Given the description of an element on the screen output the (x, y) to click on. 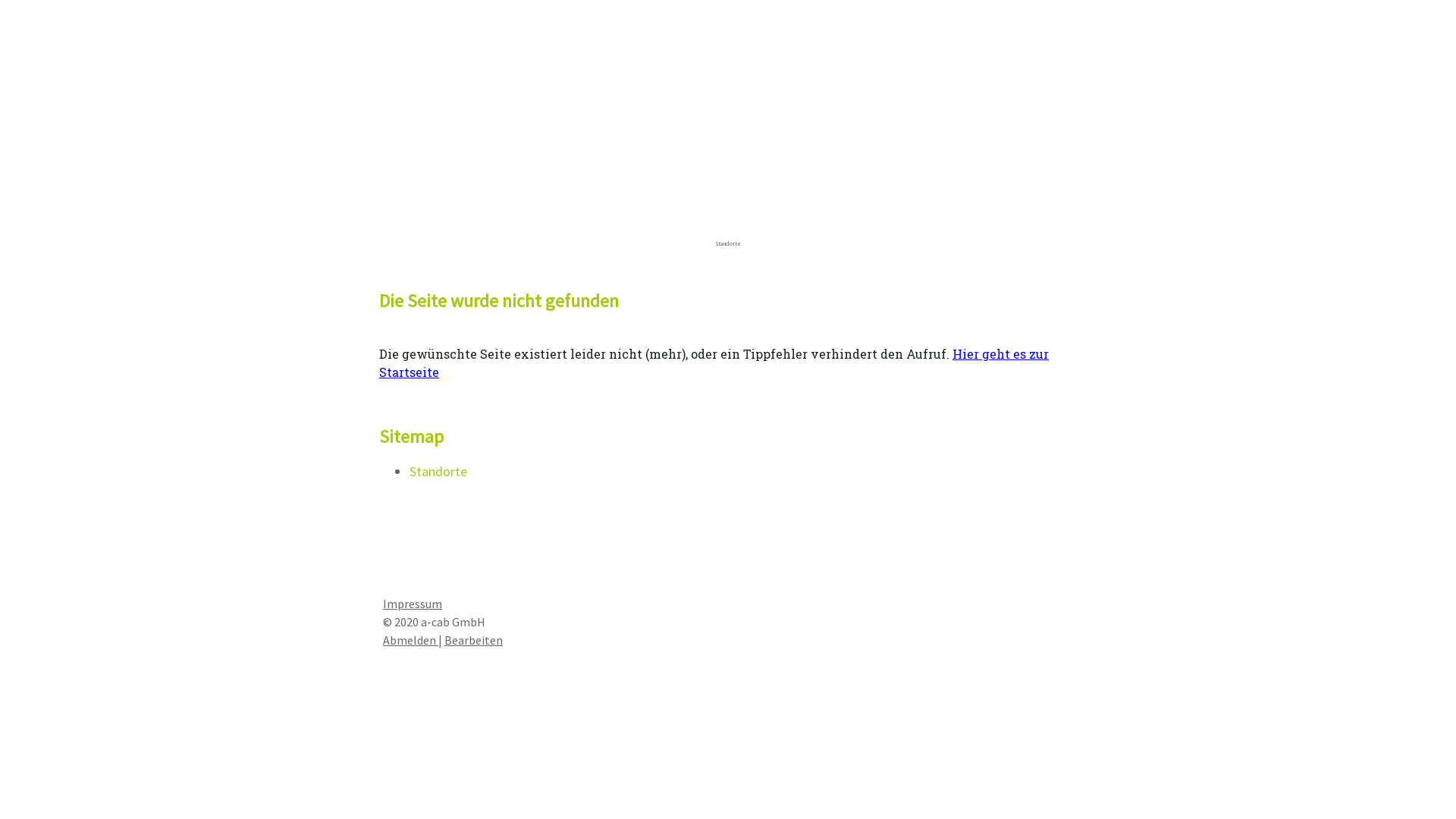
Bearbeiten Element type: text (473, 639)
Abmelden Element type: text (410, 639)
Standorte Element type: text (727, 243)
Impressum Element type: text (412, 603)
Standorte Element type: text (438, 471)
Hier geht es zur Startseite Element type: text (713, 362)
